Given the description of an element on the screen output the (x, y) to click on. 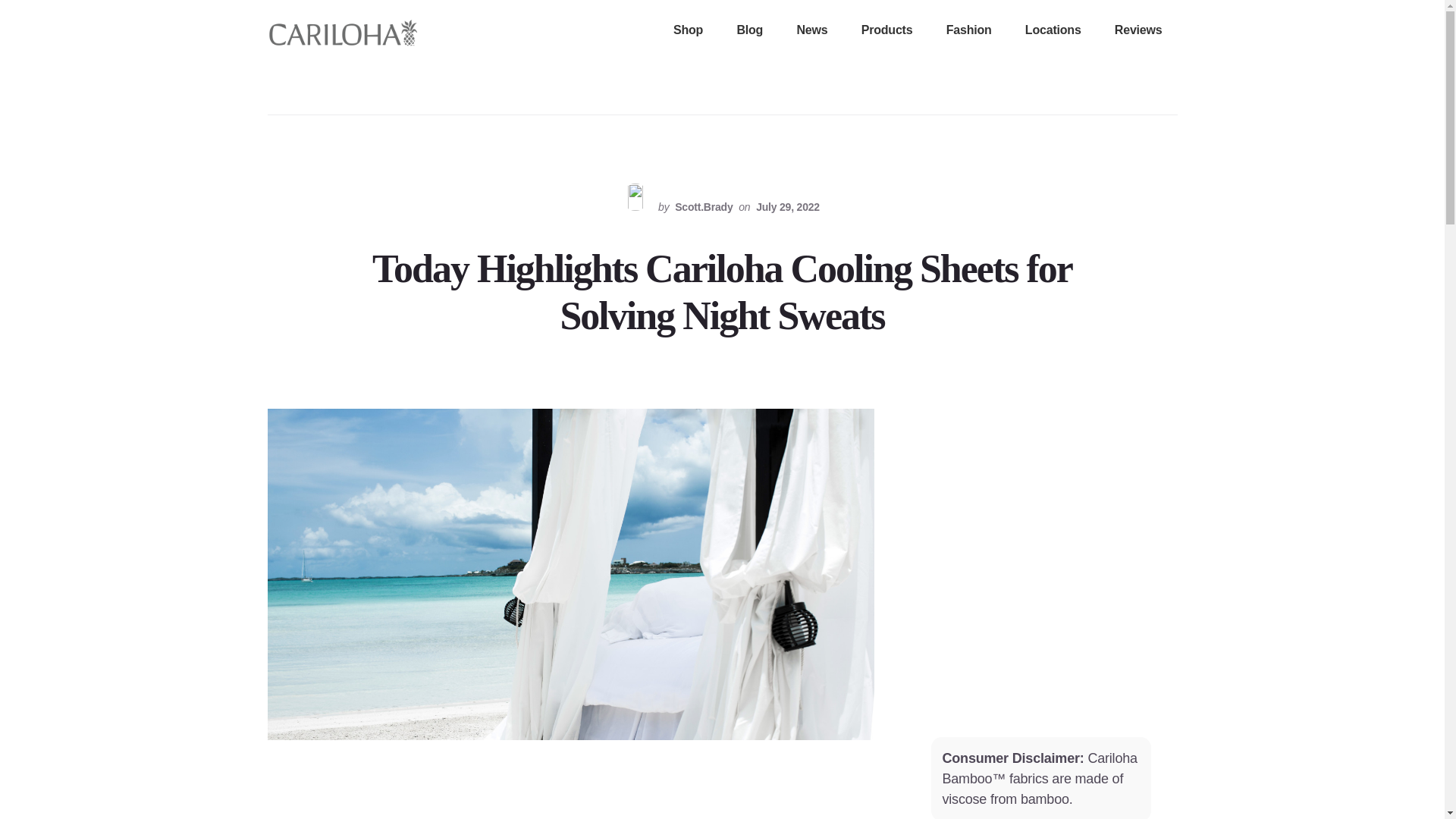
Locations (1053, 31)
Scott.Brady (703, 206)
Blog (749, 31)
Fashion (968, 31)
Reviews (1139, 31)
Shop (687, 31)
Products (887, 31)
News (811, 31)
